Given the description of an element on the screen output the (x, y) to click on. 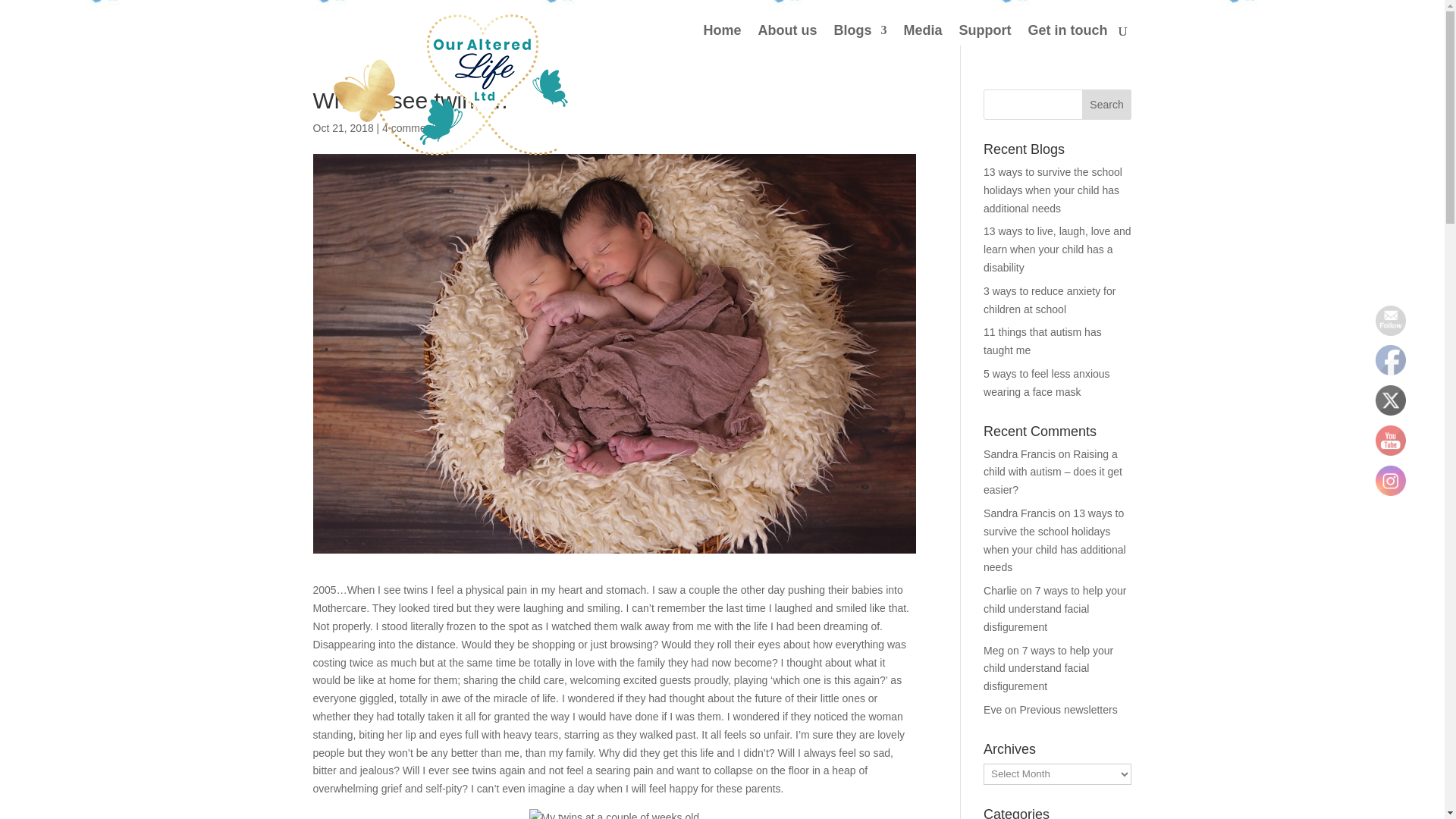
4 comments (410, 128)
11 things that autism has taught me (1043, 340)
7 ways to help your child understand facial disfigurement (1054, 608)
Get in touch (1067, 35)
Facebook (1390, 359)
Media (922, 35)
Home (722, 35)
About us (786, 35)
Search (1106, 104)
